Given the description of an element on the screen output the (x, y) to click on. 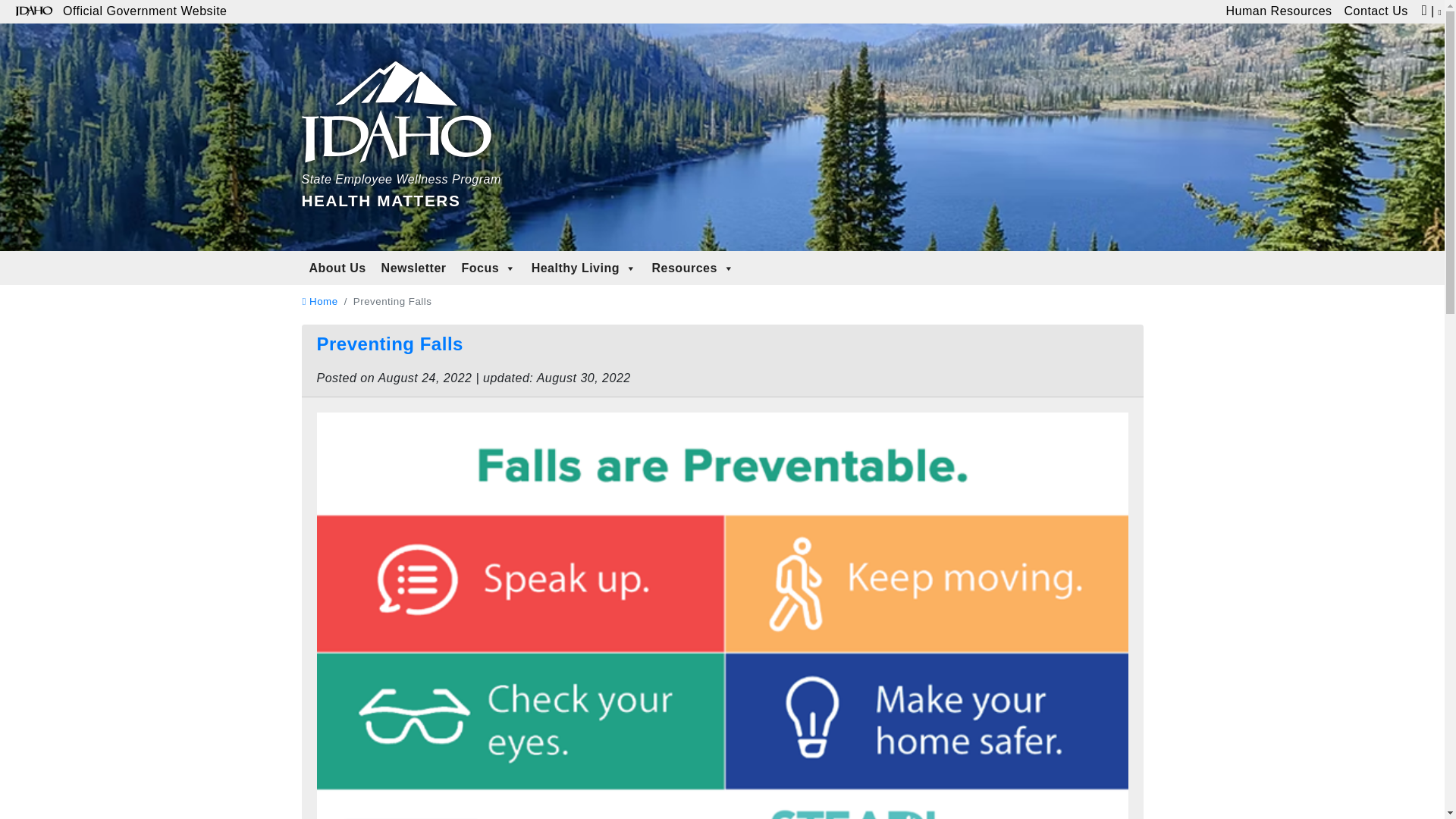
Home (400, 117)
Resources (319, 301)
Human Resources (693, 268)
home (1279, 11)
Healthy Living (319, 301)
Newsletter (584, 268)
Contact Us (414, 268)
Health Matters (1375, 11)
Preventing Falls (400, 117)
Focus (390, 343)
About Us (489, 268)
